Given the description of an element on the screen output the (x, y) to click on. 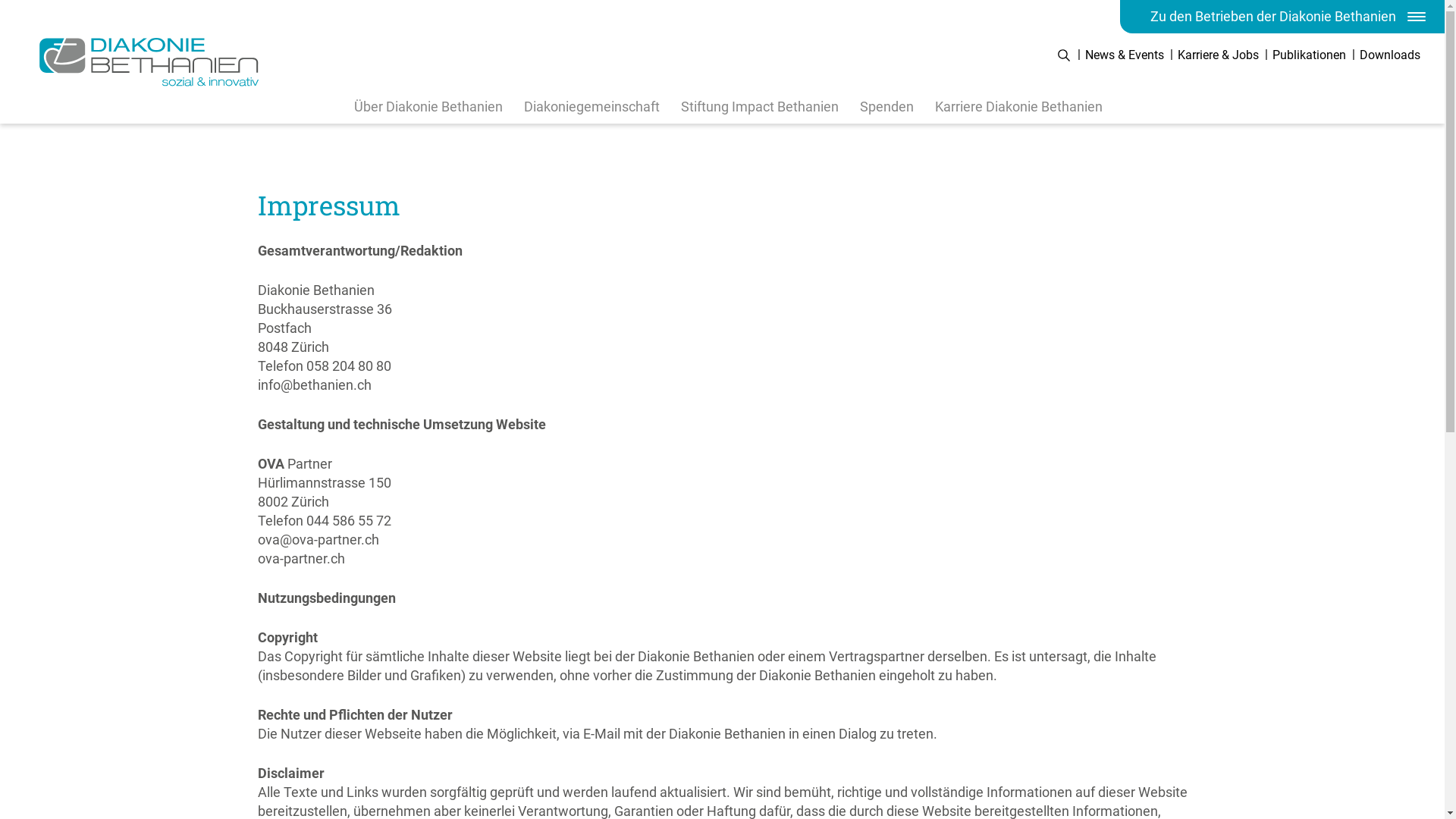
Karriere & Jobs Element type: text (1217, 54)
News & Events Element type: text (1124, 54)
ova-partner.ch Element type: text (301, 558)
Publikationen Element type: text (1309, 54)
info@bethanien.ch Element type: text (314, 384)
Downloads Element type: text (1389, 54)
Diakoniegemeinschaft Element type: text (590, 106)
Spenden Element type: text (886, 106)
Karriere Diakonie Bethanien Element type: text (1017, 106)
Stiftung Impact Bethanien Element type: text (759, 106)
Zu den Betrieben der Diakonie Bethanien Element type: text (1282, 16)
ova@ova-partner.ch Element type: text (318, 539)
